Given the description of an element on the screen output the (x, y) to click on. 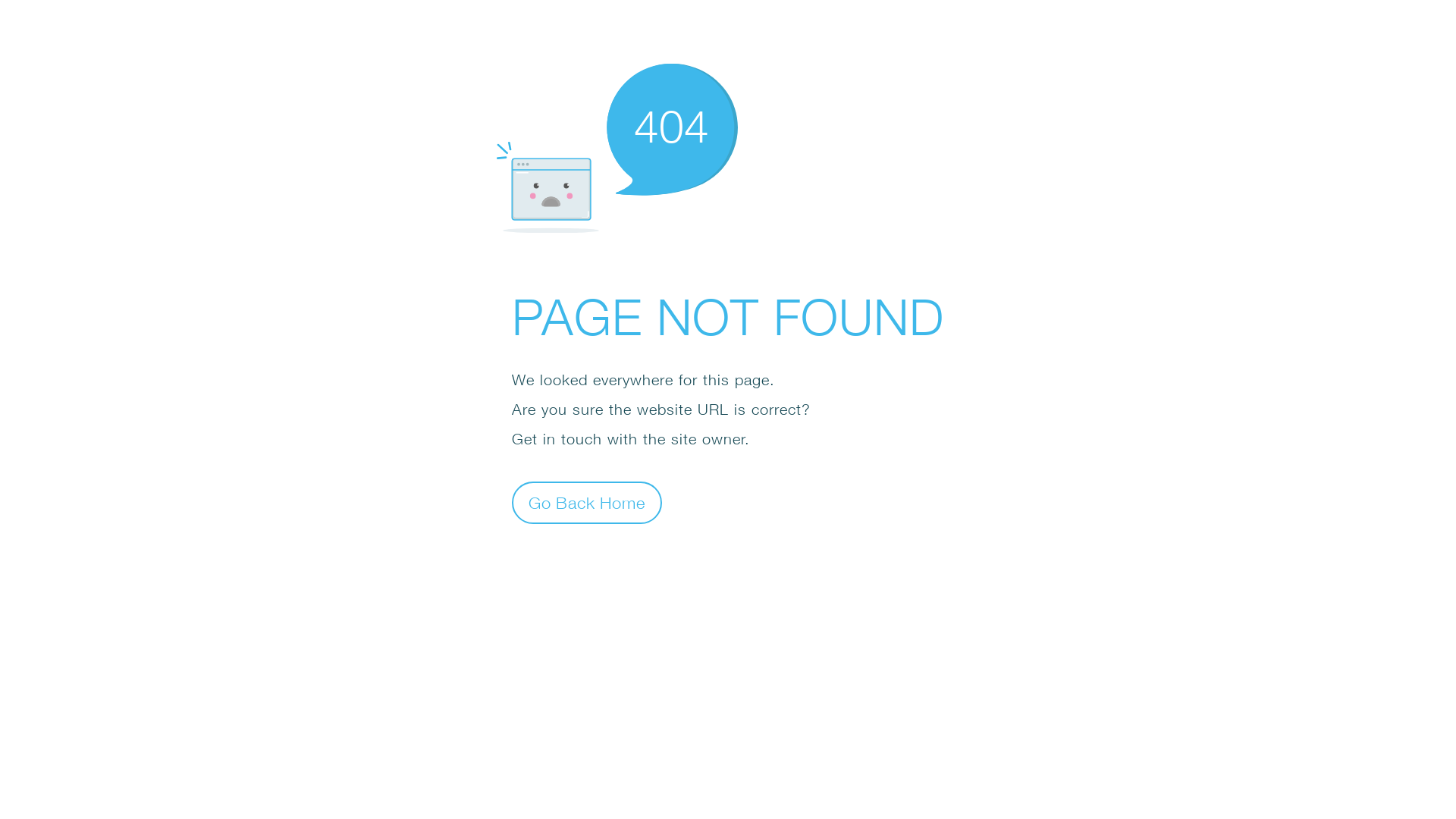
Go Back Home Element type: text (586, 502)
